Given the description of an element on the screen output the (x, y) to click on. 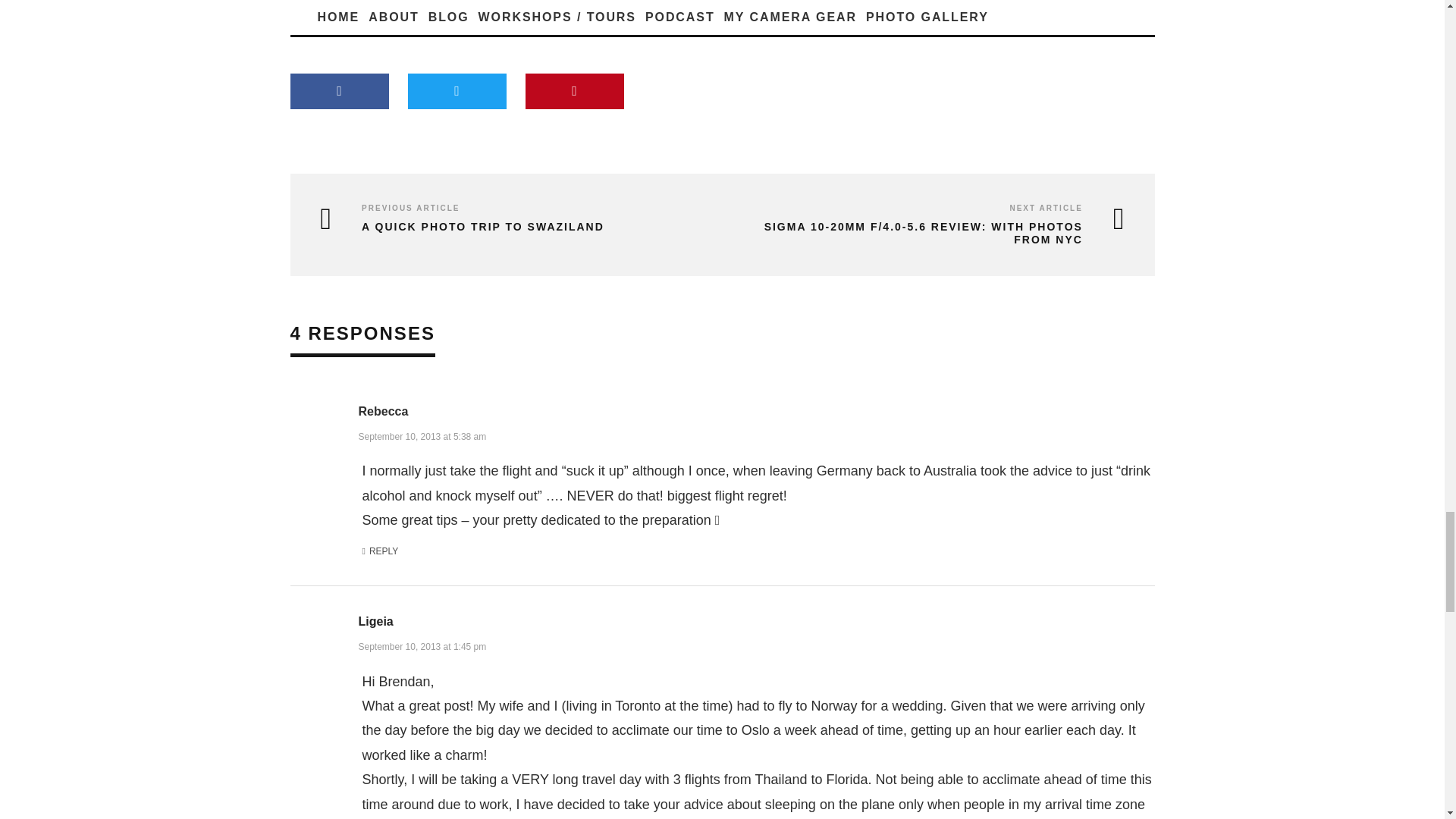
Ligeia (375, 621)
September 10, 2013 at 1:45 pm (422, 645)
September 10, 2013 at 5:38 am (422, 435)
PREVIOUS ARTICLE (410, 207)
A QUICK PHOTO TRIP TO SWAZILAND (509, 226)
REPLY (380, 551)
NEXT ARTICLE (1045, 207)
